Given the description of an element on the screen output the (x, y) to click on. 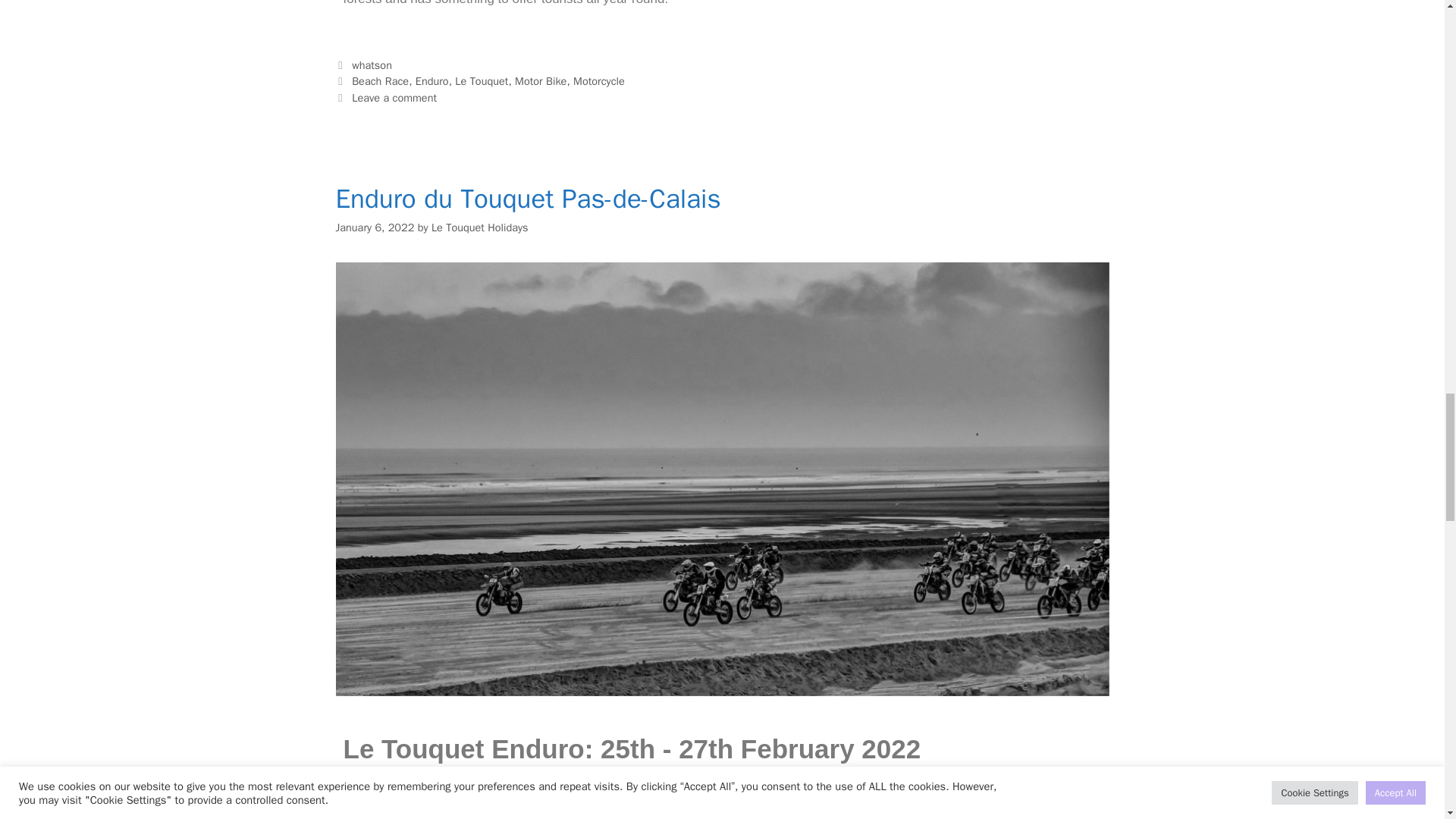
Motor Bike (540, 80)
Beach Race (380, 80)
Leave a comment (394, 97)
Enduro du Touquet Pas-de-Calais (527, 198)
Motorcycle (598, 80)
Le Touquet (481, 80)
Le Touquet Holidays (479, 227)
View all posts by Le Touquet Holidays (479, 227)
Enduro (431, 80)
whatson (371, 65)
